Given the description of an element on the screen output the (x, y) to click on. 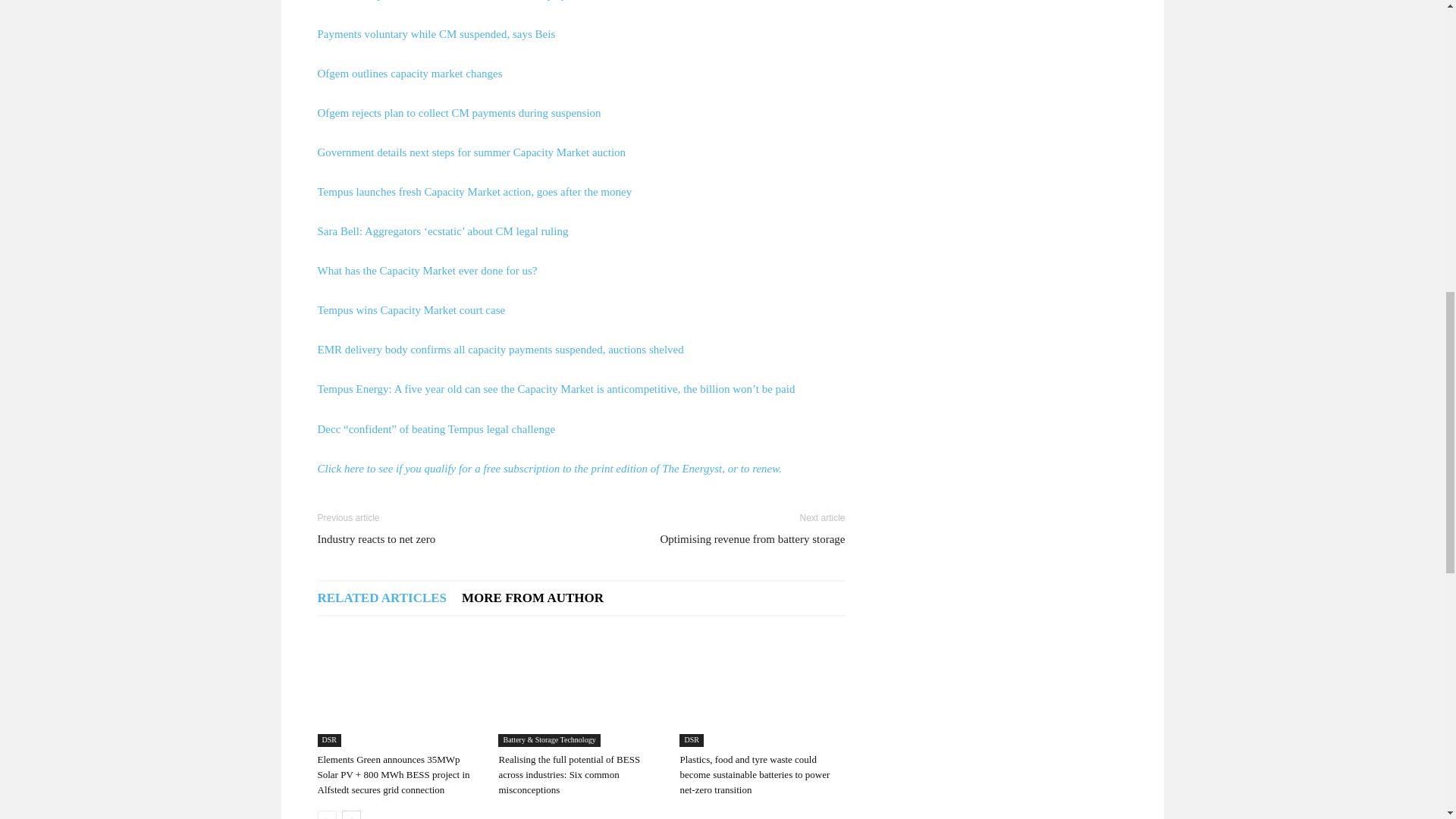
Permalink to What has the Capacity Market ever done for us? (427, 270)
